Given the description of an element on the screen output the (x, y) to click on. 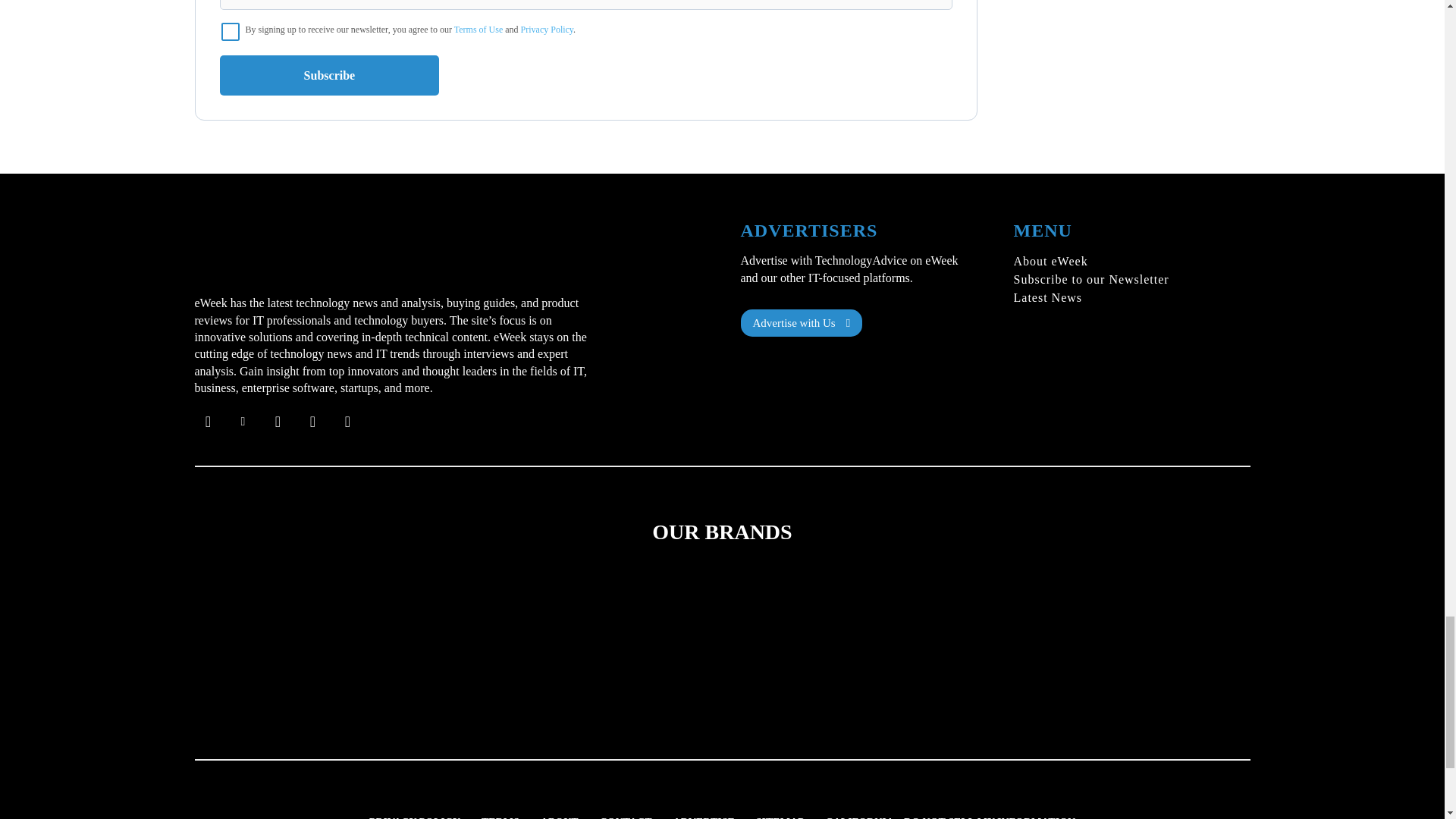
on (230, 31)
